Given the description of an element on the screen output the (x, y) to click on. 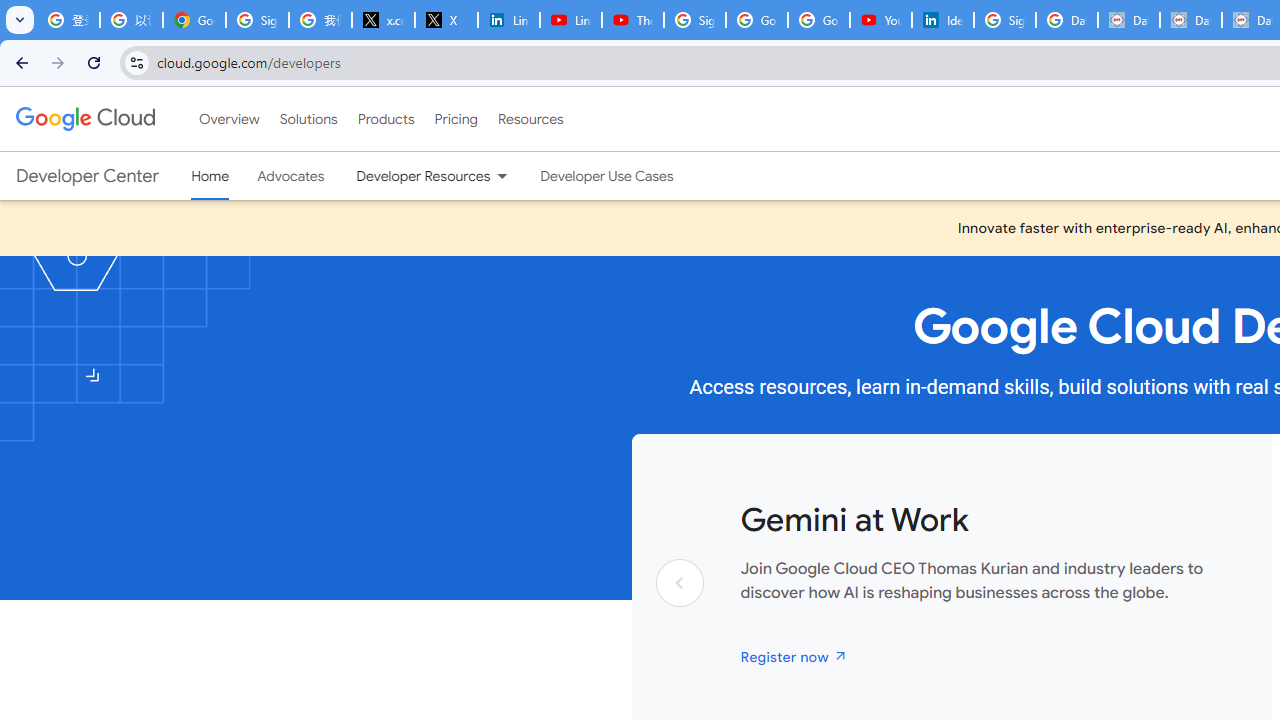
Developer Use Cases (607, 175)
Sign in - Google Accounts (694, 20)
LinkedIn - YouTube (570, 20)
X (445, 20)
Solutions (308, 119)
Data Privacy Framework (1190, 20)
Advocates (291, 175)
LinkedIn Privacy Policy (508, 20)
Resources (530, 119)
